Given the description of an element on the screen output the (x, y) to click on. 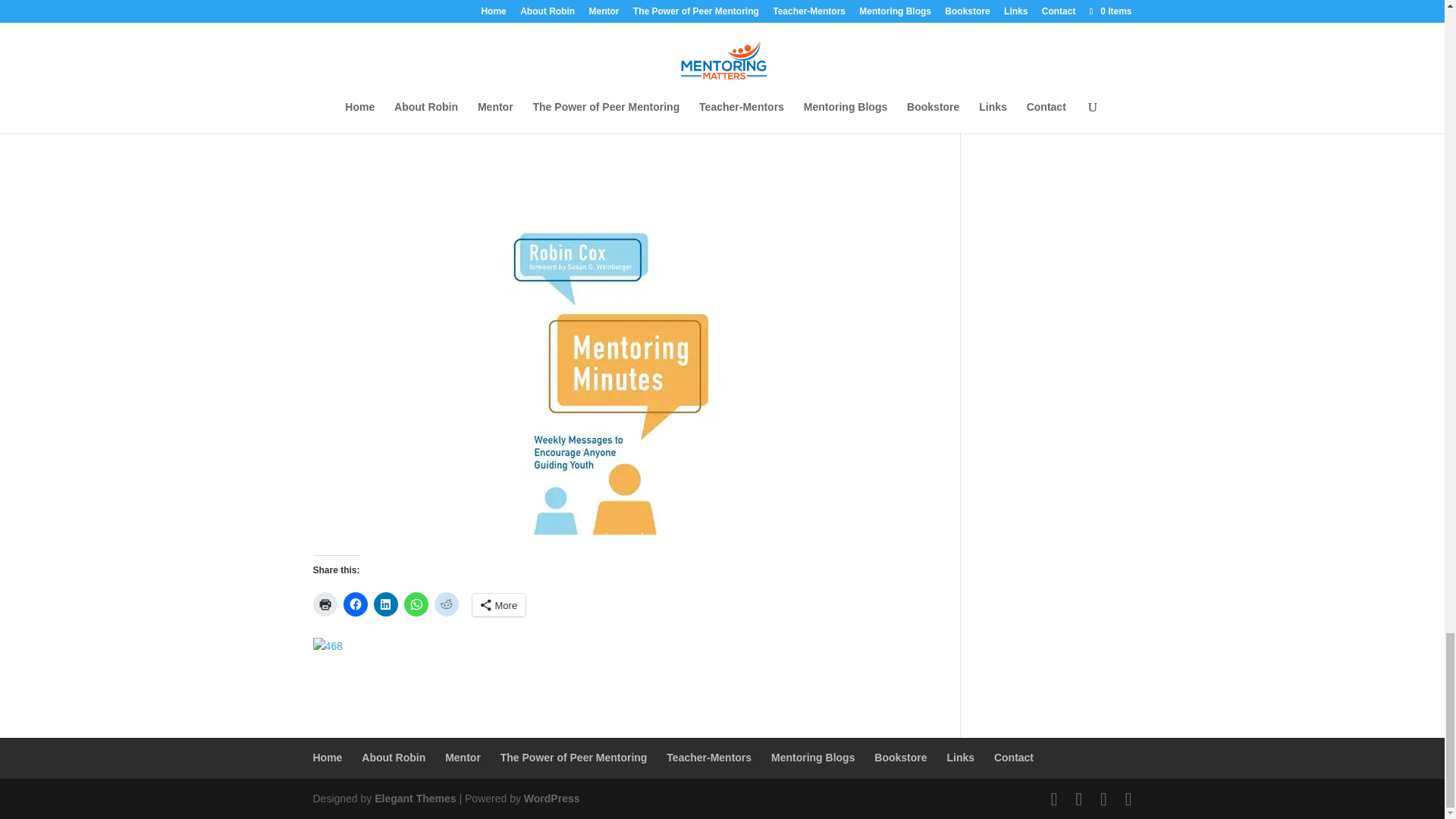
Click to print (324, 604)
Click to share on LinkedIn (384, 604)
Click to share on WhatsApp (415, 604)
Click to share on Reddit (445, 604)
Click to share on Facebook (354, 604)
Premium WordPress Themes (414, 798)
